Given the description of an element on the screen output the (x, y) to click on. 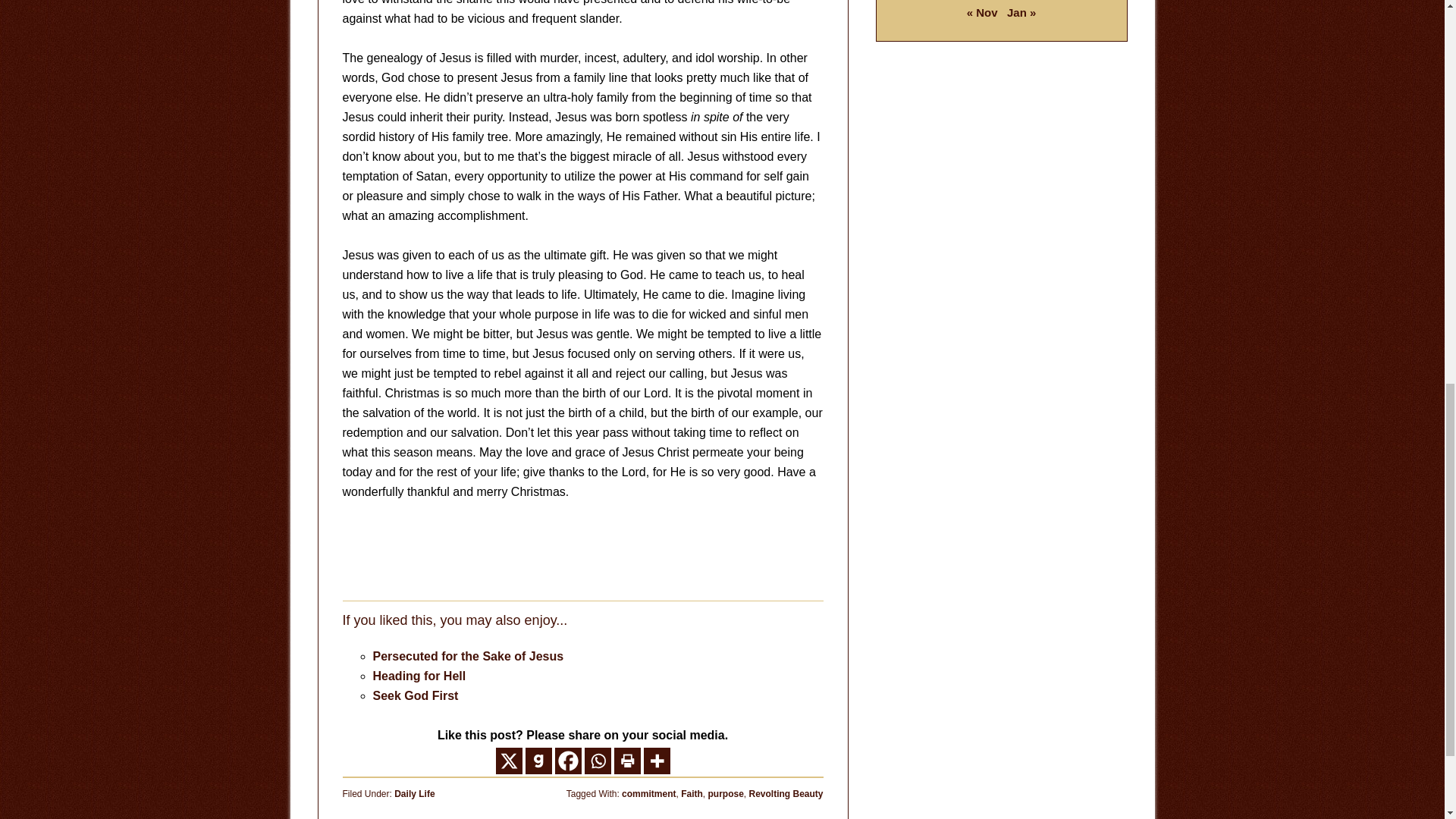
Revolting Beauty (785, 793)
Seek God First (415, 695)
Print (627, 760)
Gab (537, 760)
X (509, 760)
Facebook (567, 760)
commitment (648, 793)
Persecuted for the Sake of Jesus (468, 656)
Heading for Hell (418, 675)
Whatsapp (596, 760)
purpose (724, 793)
More (656, 760)
Heading for Hell (418, 675)
Daily Life (413, 793)
Seek God First (415, 695)
